Given the description of an element on the screen output the (x, y) to click on. 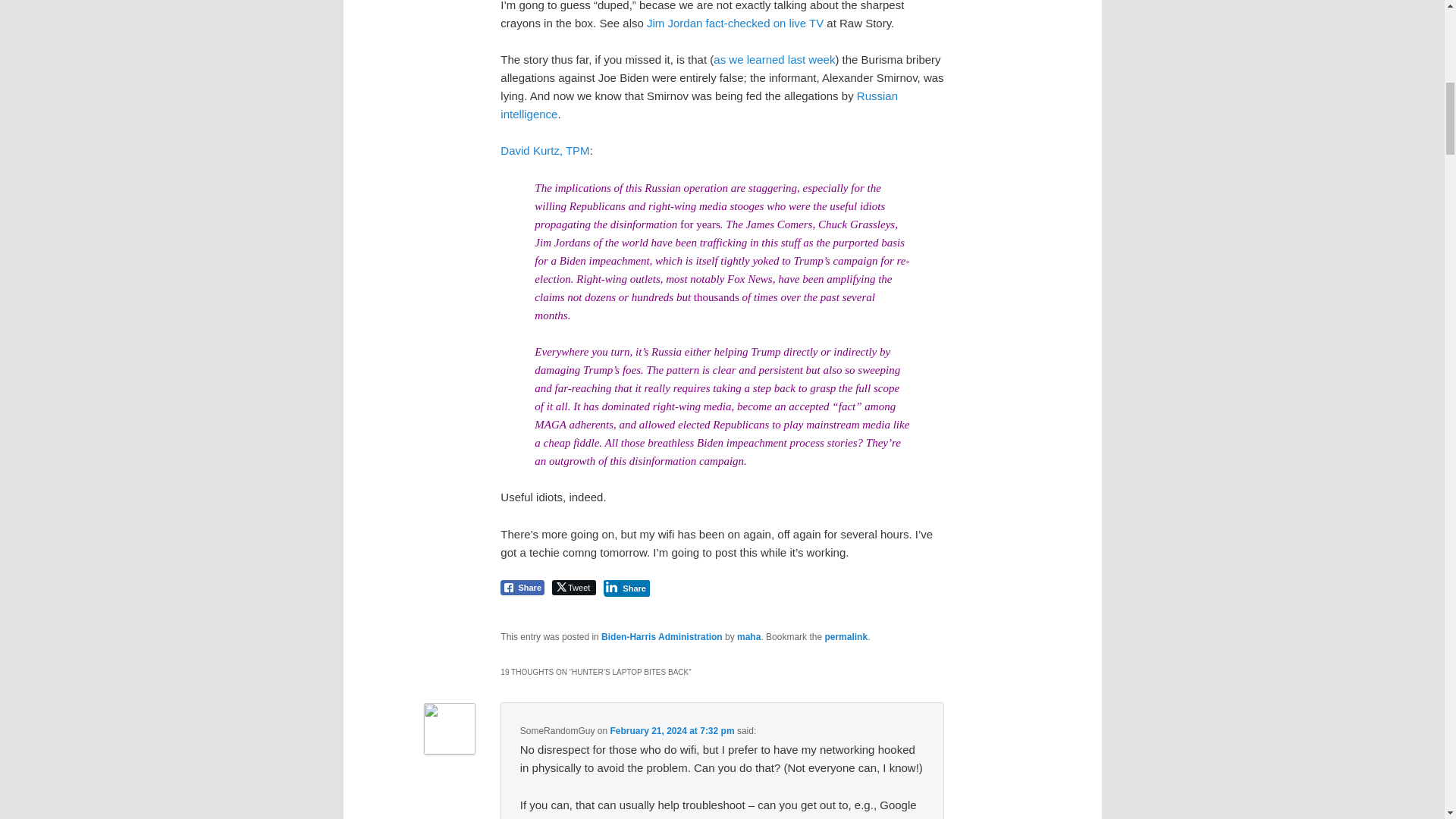
permalink (845, 636)
Share (522, 587)
Tweet (573, 587)
maha (748, 636)
Share (626, 587)
Jim Jordan fact-checked on live TV (735, 22)
Biden-Harris Administration (661, 636)
February 21, 2024 at 7:32 pm (671, 730)
most notably Fox News (718, 278)
Russian intelligence (699, 104)
